Given the description of an element on the screen output the (x, y) to click on. 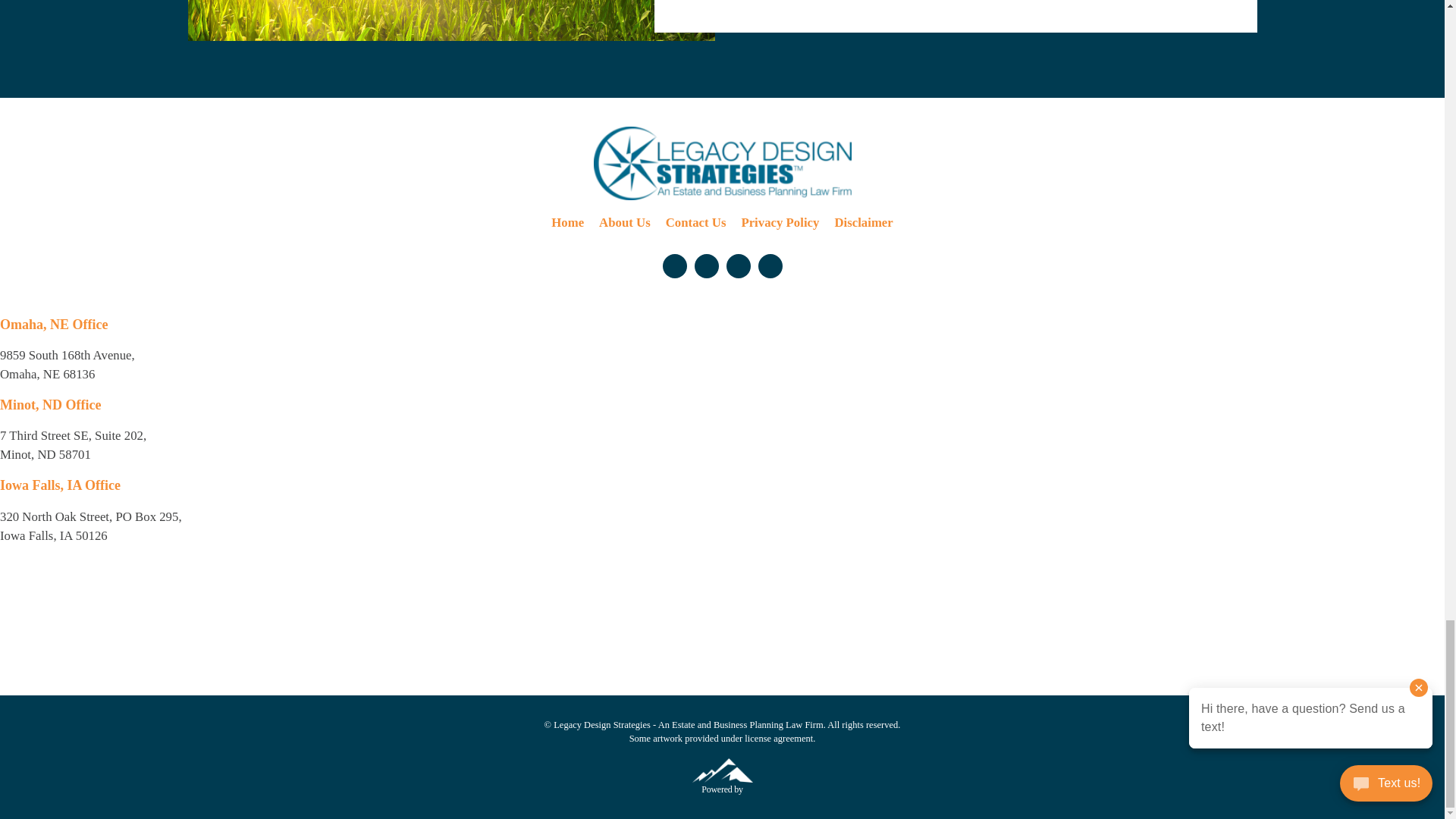
Powered by IMS - Opens New Window (721, 770)
Areas We Serve (450, 20)
